Given the description of an element on the screen output the (x, y) to click on. 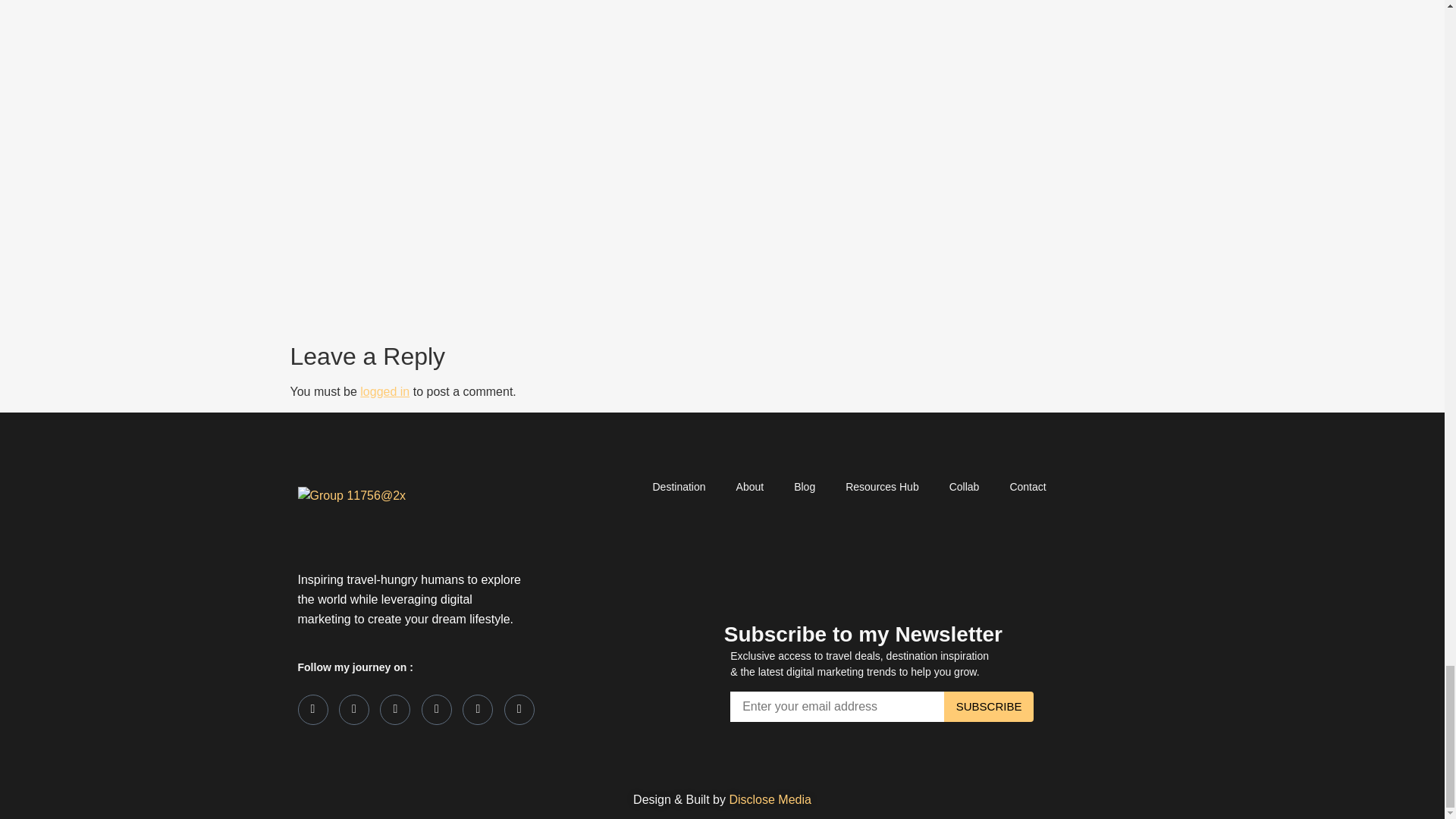
Destination (673, 487)
SUBSCRIBE (988, 706)
Resources Hub (876, 487)
Disclose Media (769, 799)
Blog (799, 487)
Contact (1022, 487)
Collab (959, 487)
About (745, 487)
logged in (384, 391)
